Given the description of an element on the screen output the (x, y) to click on. 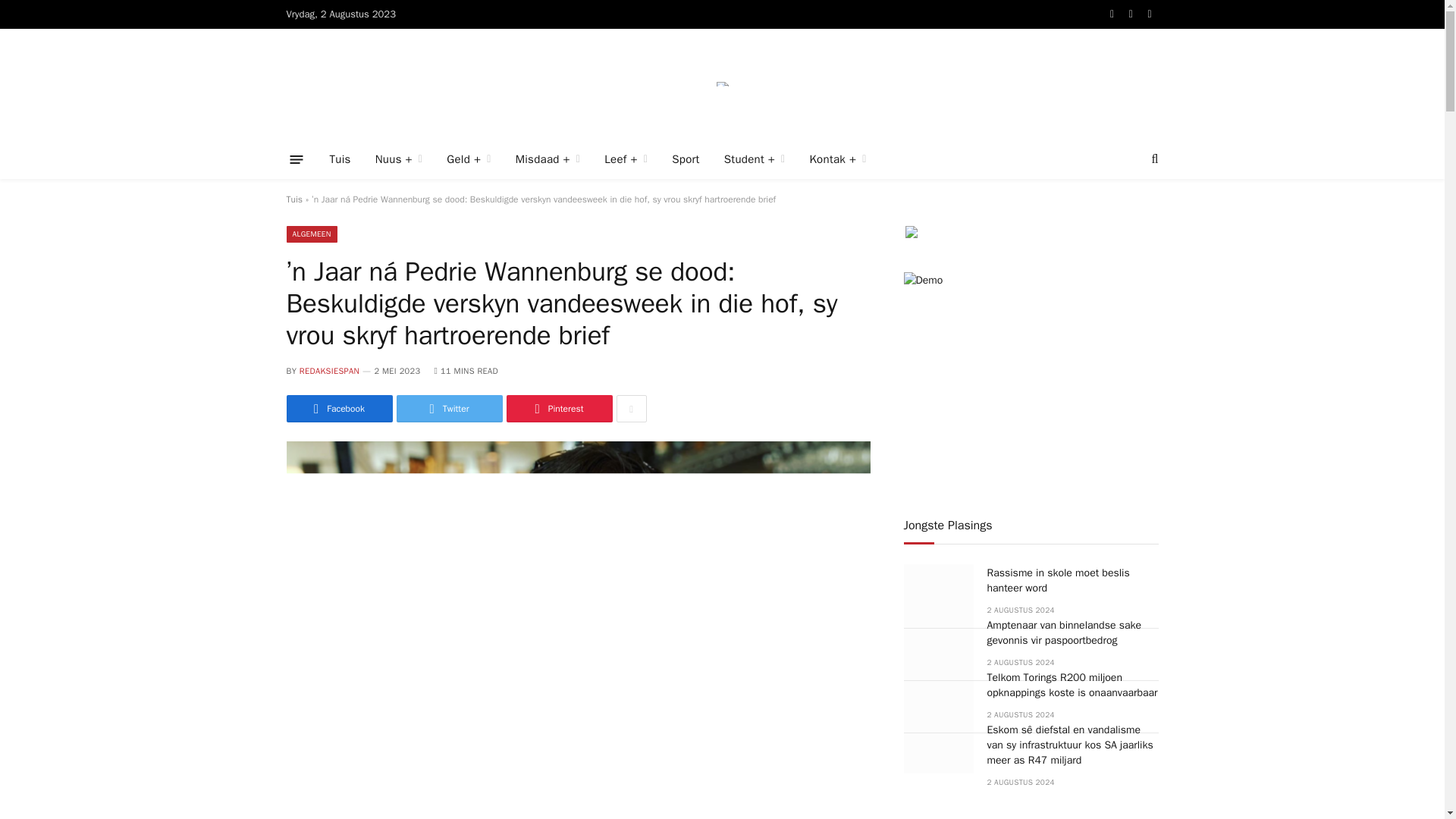
Share on Pinterest (559, 408)
Share on Facebook (339, 408)
Plasings deur Redaksiespan (329, 370)
Tuis (339, 159)
